Given the description of an element on the screen output the (x, y) to click on. 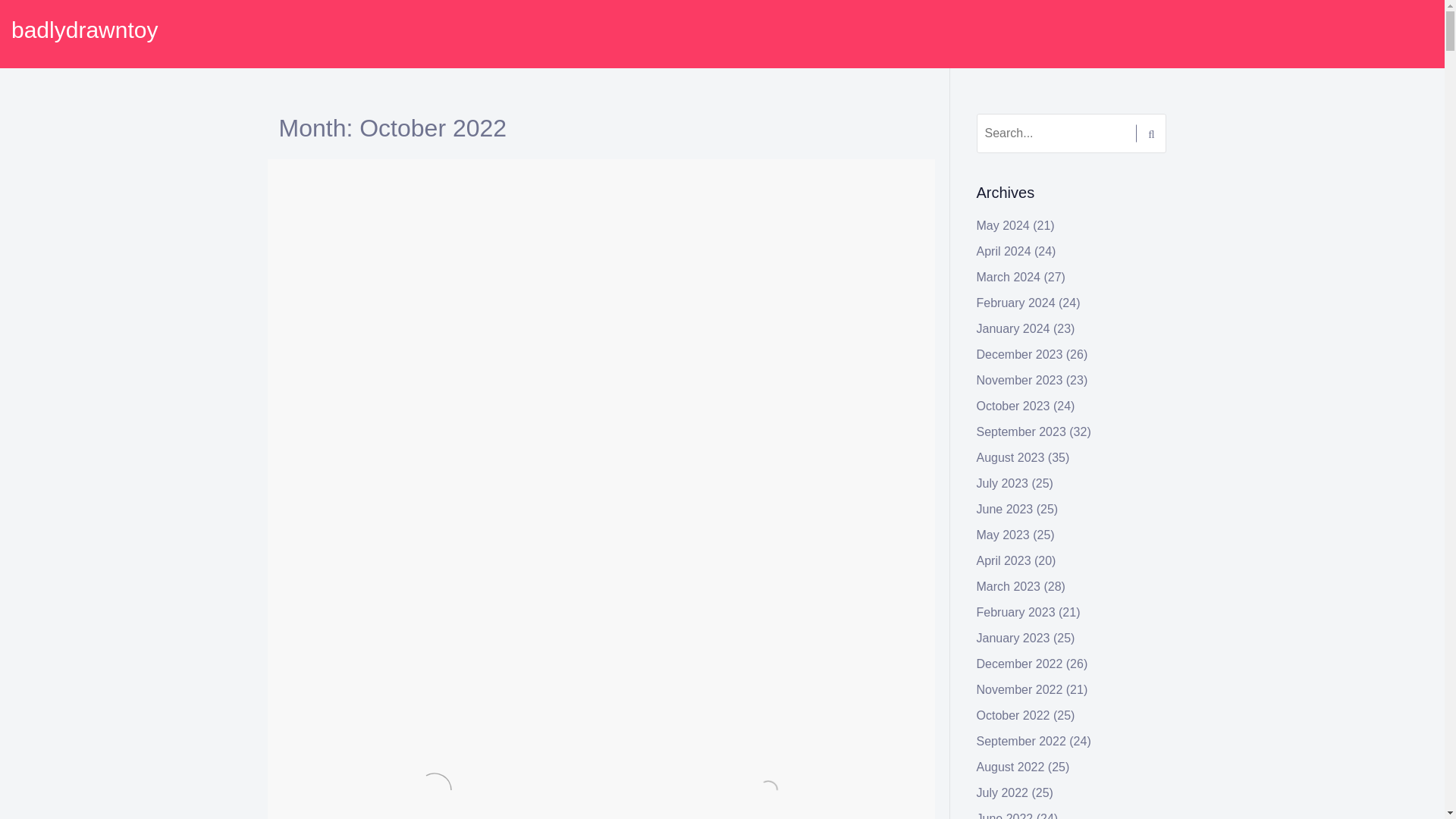
Gambling Online (344, 199)
What to Look For in a Casino Online (752, 199)
Admin (740, 174)
October 30, 2022 (668, 174)
badlydrawntoy (84, 29)
October 31, 2022 (334, 174)
Admin (406, 174)
